Given the description of an element on the screen output the (x, y) to click on. 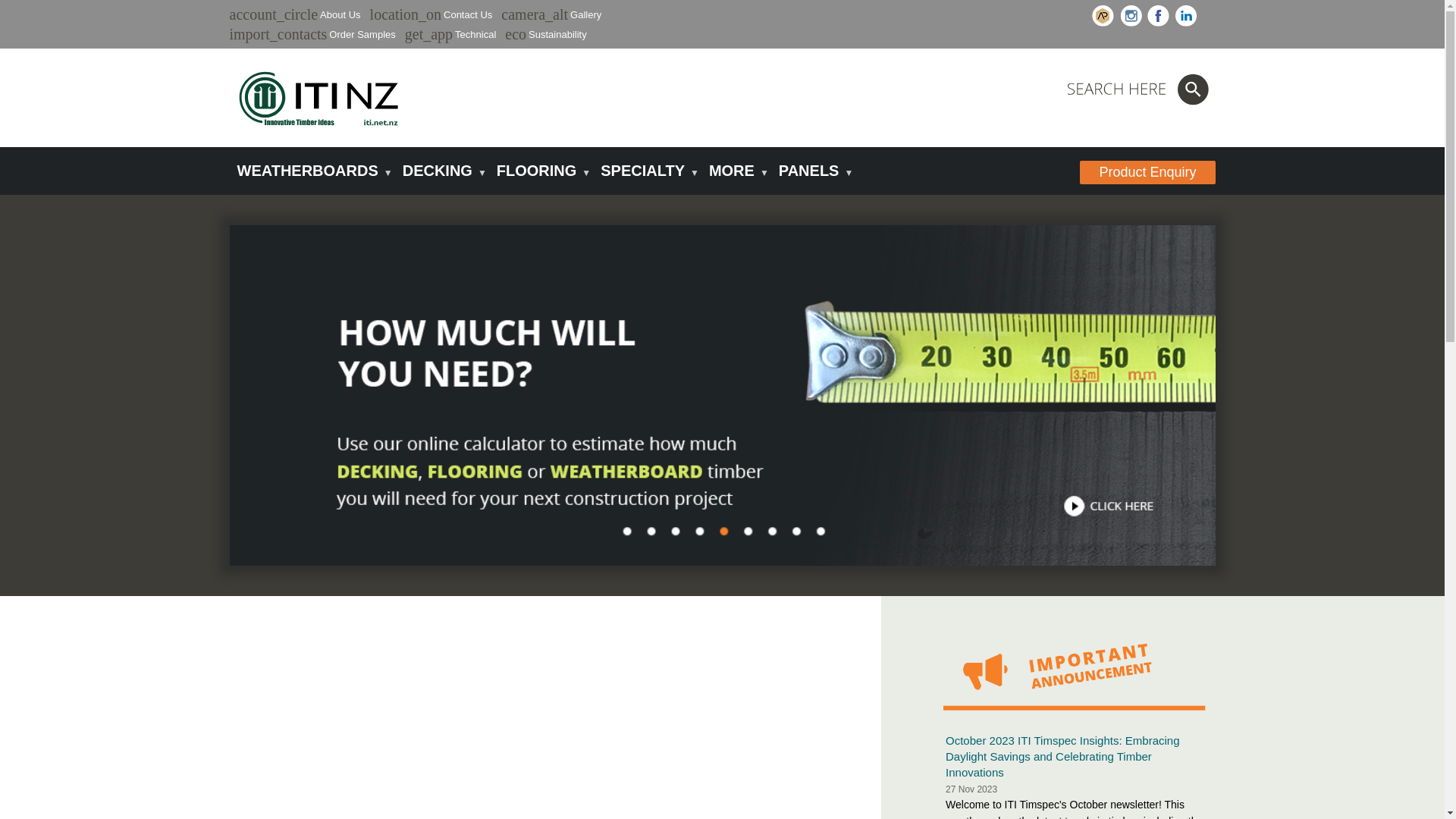
Order Samples (361, 34)
Gallery (585, 14)
About Us (339, 14)
Sustainability (557, 34)
Contact Us (468, 14)
WEATHERBOARDS (311, 170)
DECKING (441, 170)
Technical (475, 34)
